Given the description of an element on the screen output the (x, y) to click on. 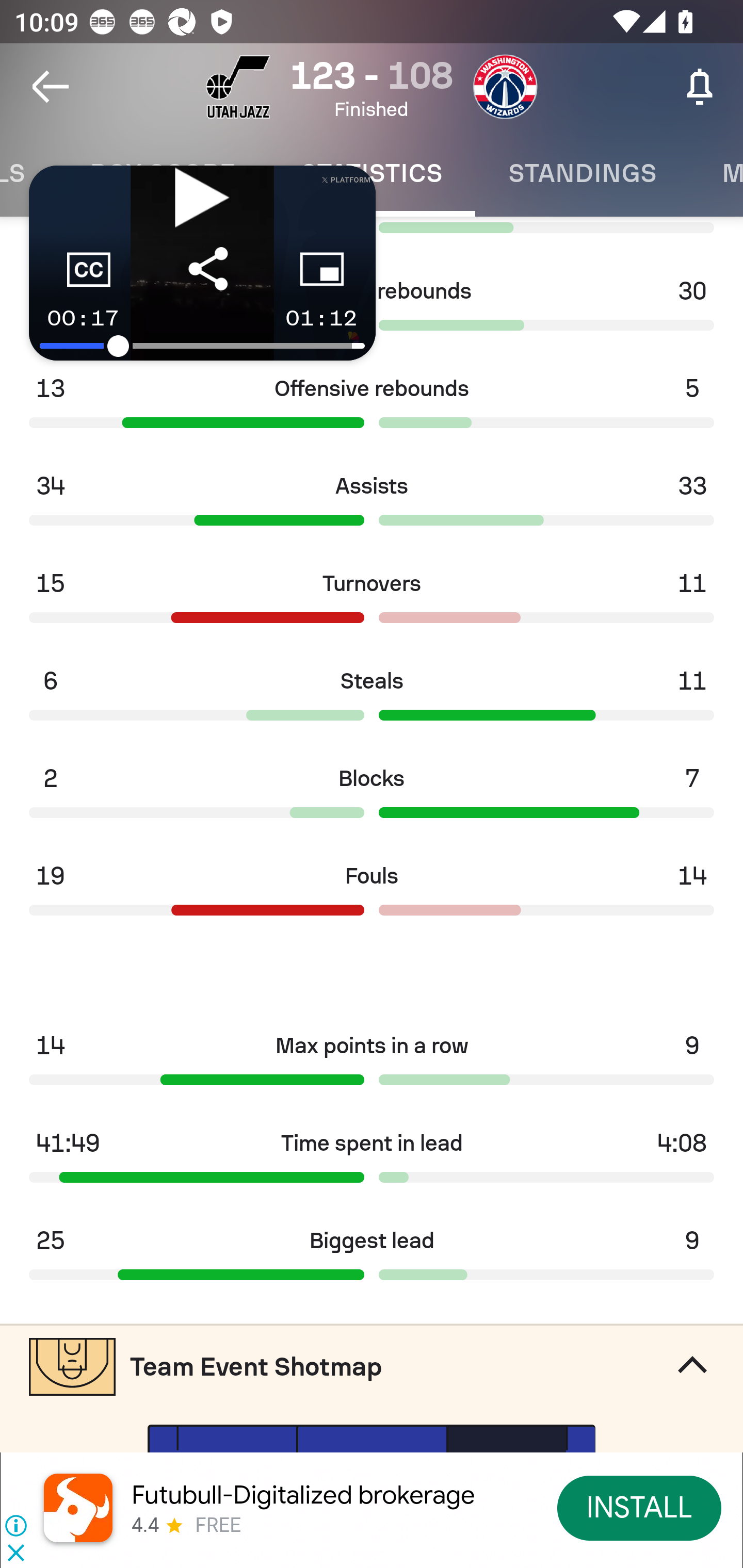
Navigate up (50, 86)
Standings STANDINGS (581, 173)
13 Offensive rebounds 5 722.0 277.0 (371, 407)
34 Assists 33 507.0 492.0 (371, 505)
15 Turnovers 11 576.0 423.0 (371, 603)
6 Steals 11 352.0 647.0 (371, 700)
2 Blocks 7 222.0 777.0 (371, 797)
19 Fouls 14 575.0 424.0 (371, 894)
14 Max points in a row 9 608.0 391.0 (371, 1065)
41:49 Time spent in lead 4:08 910.0 89.0 (371, 1163)
25 Biggest lead 9 735.0 264.0 (371, 1260)
Team Event Shotmap (371, 1366)
INSTALL (639, 1507)
Futubull-Digitalized brokerage (302, 1494)
